Given the description of an element on the screen output the (x, y) to click on. 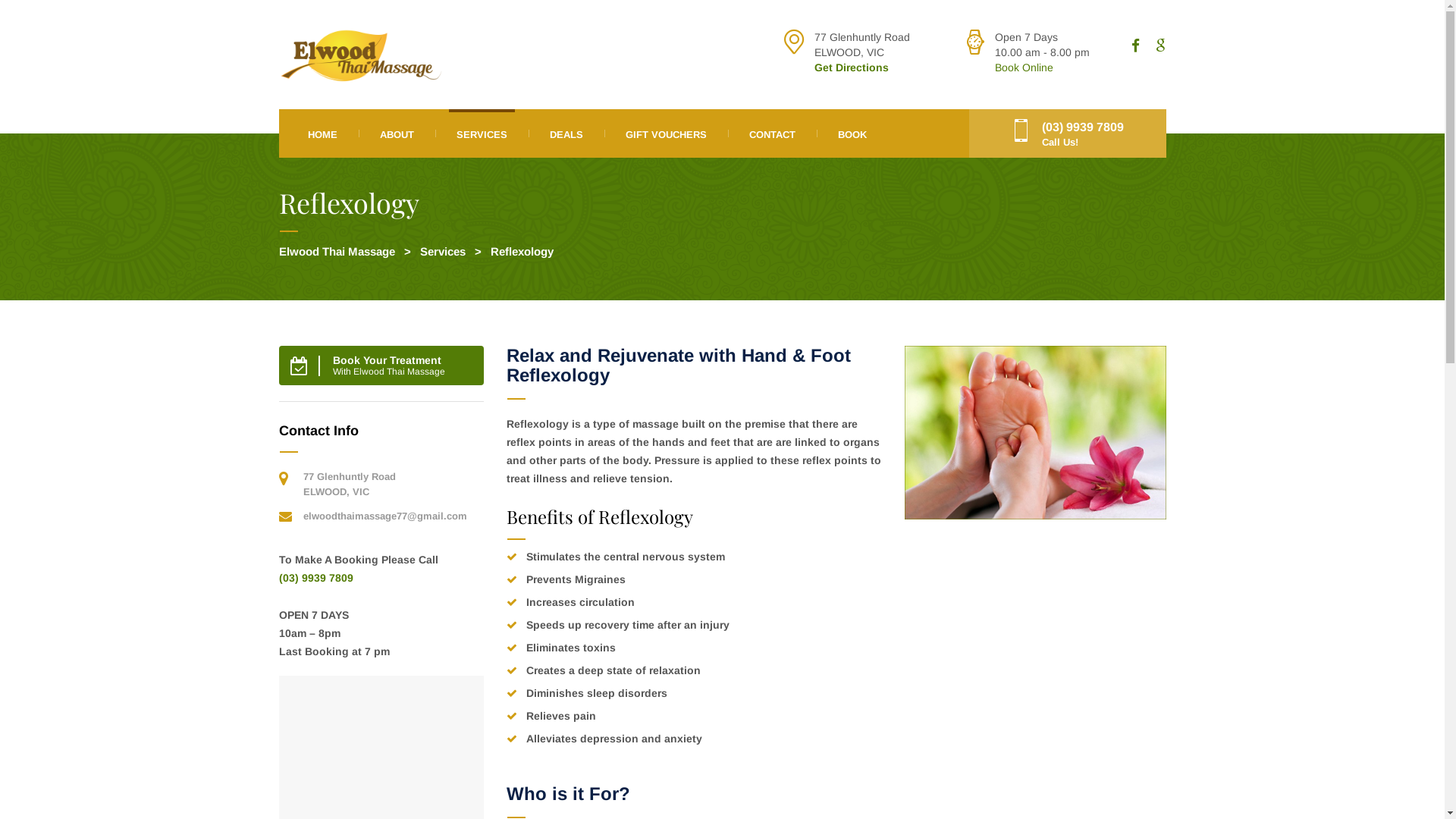
Services Element type: text (442, 250)
Elwood Thai Massage Element type: text (337, 250)
CONTACT Element type: text (772, 133)
(03) 9939 7809 Element type: text (316, 577)
Get Directions Element type: text (851, 67)
HOME Element type: text (322, 133)
Book Your Treatment
With Elwood Thai Massage Element type: text (381, 365)
BOOK Element type: text (851, 133)
SERVICES Element type: text (481, 133)
Book Online Element type: text (1023, 67)
(03) 9939 7809 Element type: text (1082, 126)
elwoodthaimassage77@gmail.com Element type: text (385, 515)
GIFT VOUCHERS Element type: text (665, 133)
DEALS Element type: text (565, 133)
ABOUT Element type: text (395, 133)
